Given the description of an element on the screen output the (x, y) to click on. 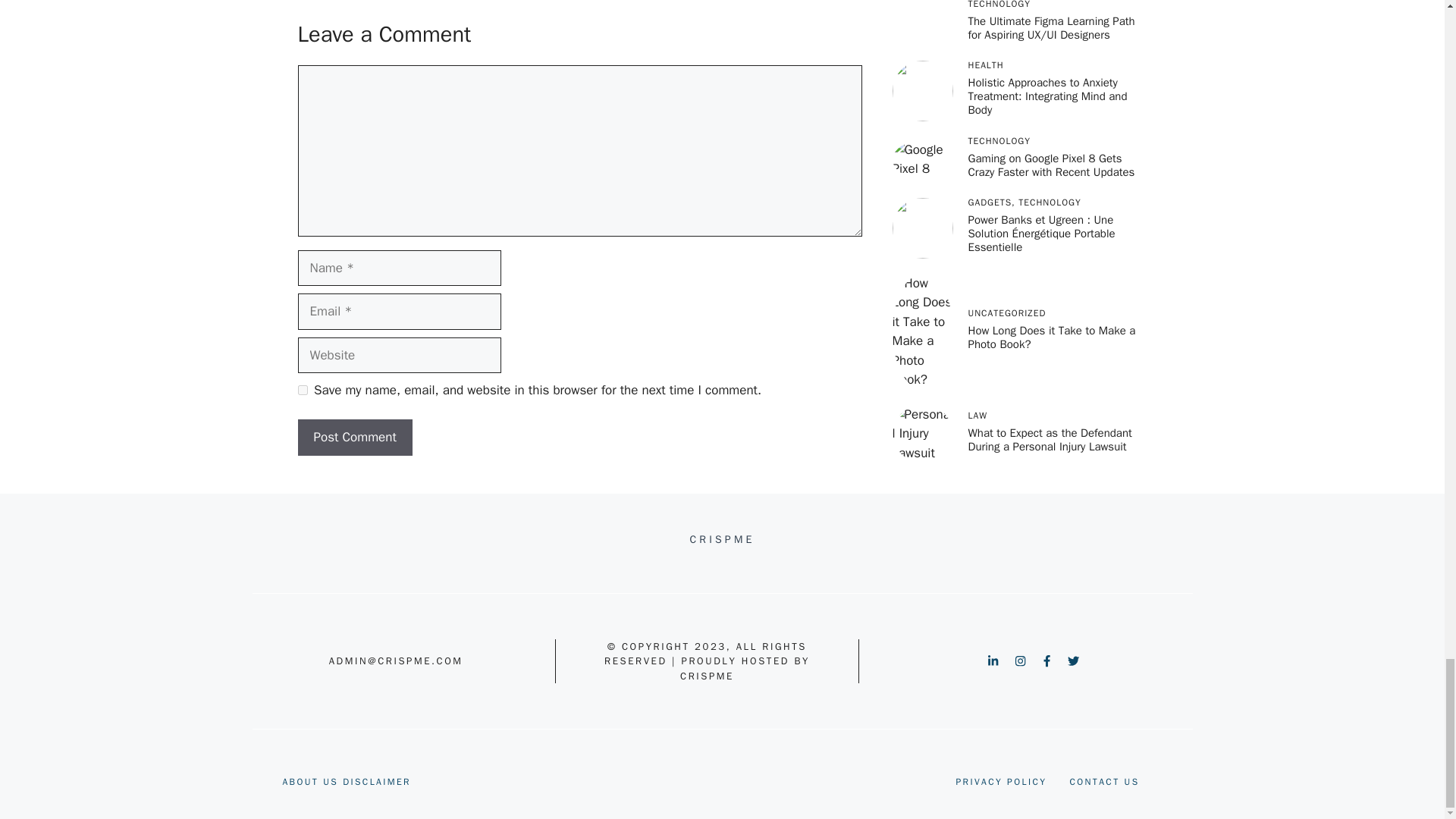
Post Comment (354, 437)
yes (302, 389)
